Given the description of an element on the screen output the (x, y) to click on. 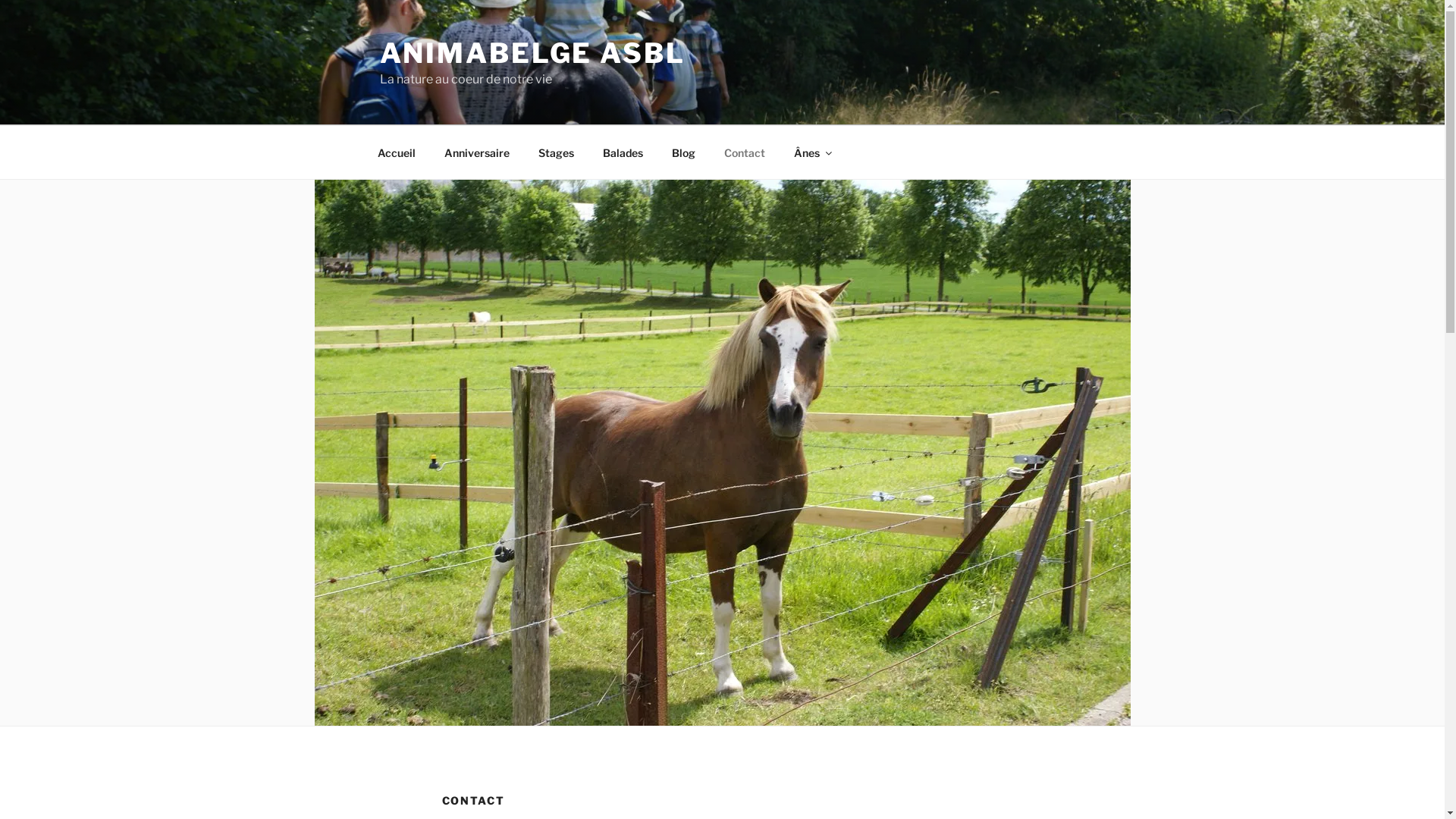
Contact Element type: text (744, 151)
Blog Element type: text (683, 151)
Accueil Element type: text (396, 151)
Anniversaire Element type: text (476, 151)
ANIMABELGE ASBL Element type: text (531, 52)
Balades Element type: text (622, 151)
Stages Element type: text (555, 151)
